Given the description of an element on the screen output the (x, y) to click on. 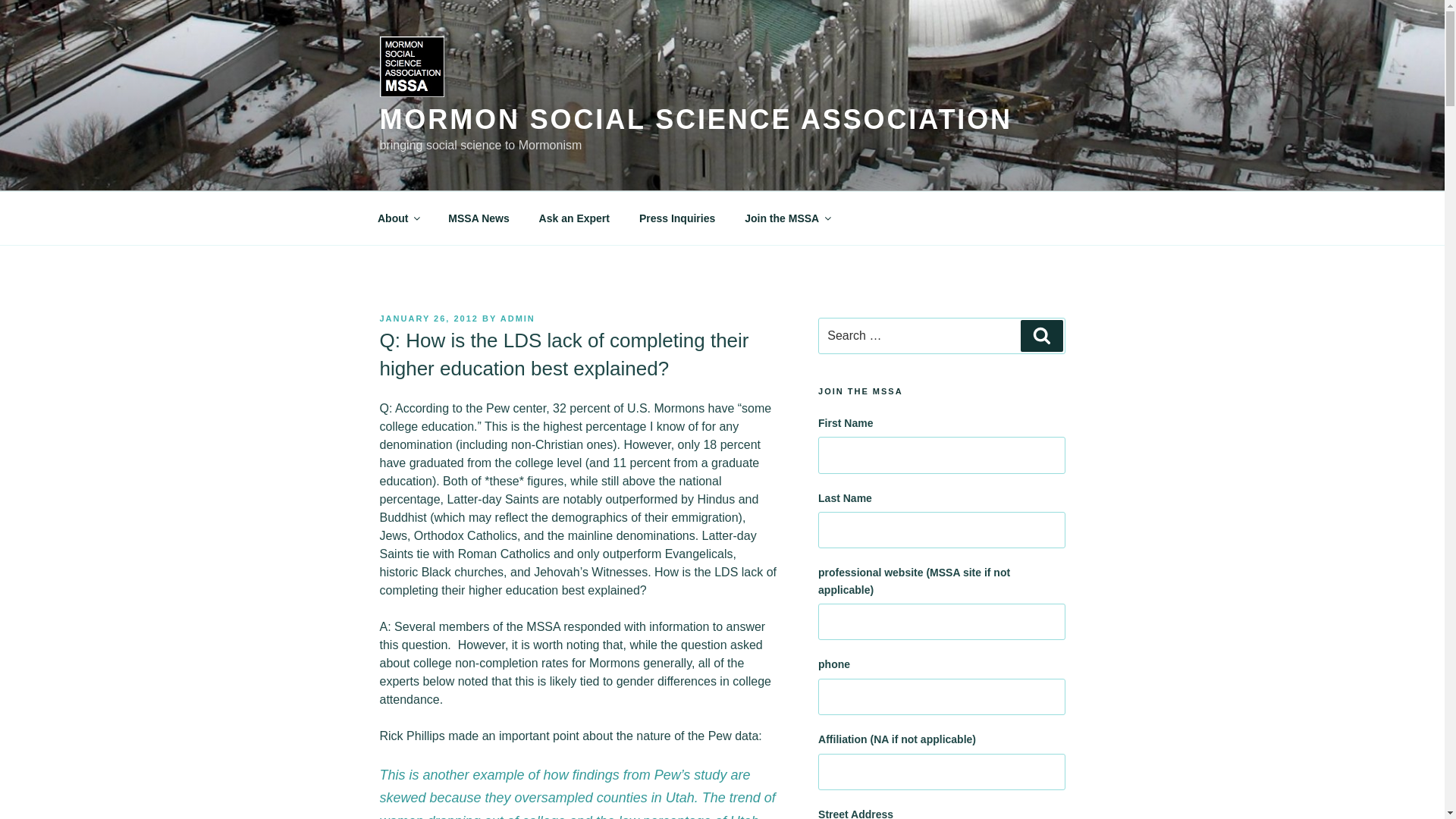
Join the MSSA (787, 218)
Press Inquiries (677, 218)
JANUARY 26, 2012 (427, 317)
ADMIN (517, 317)
MSSA News (478, 218)
Ask an Expert (574, 218)
MORMON SOCIAL SCIENCE ASSOCIATION (694, 119)
About (397, 218)
Search (1041, 336)
